Given the description of an element on the screen output the (x, y) to click on. 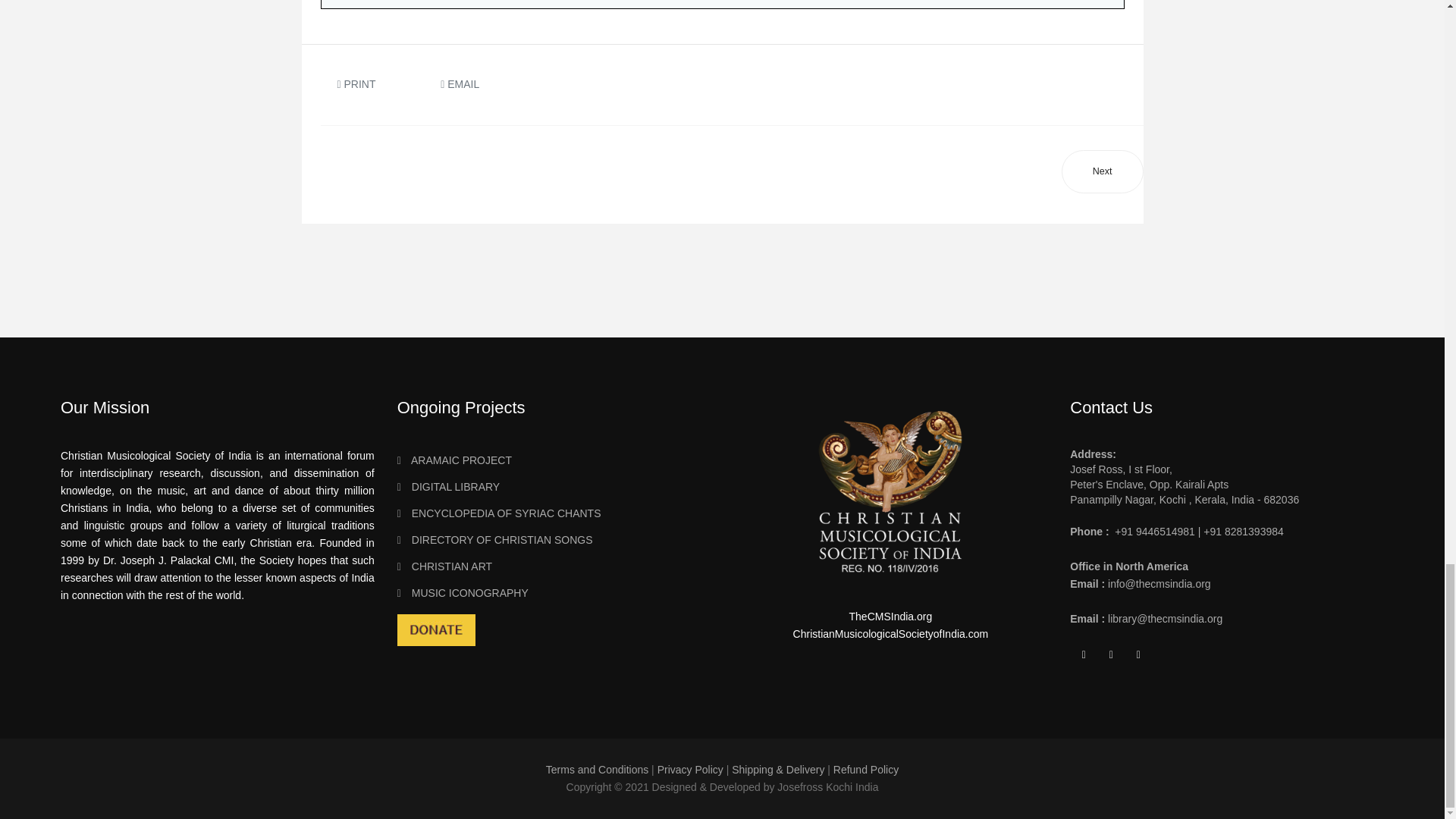
Icon group item (1111, 655)
Email this link to a friend (459, 83)
DIGITAL LIBRARY (554, 487)
Icon group item (1083, 655)
